Given the description of an element on the screen output the (x, y) to click on. 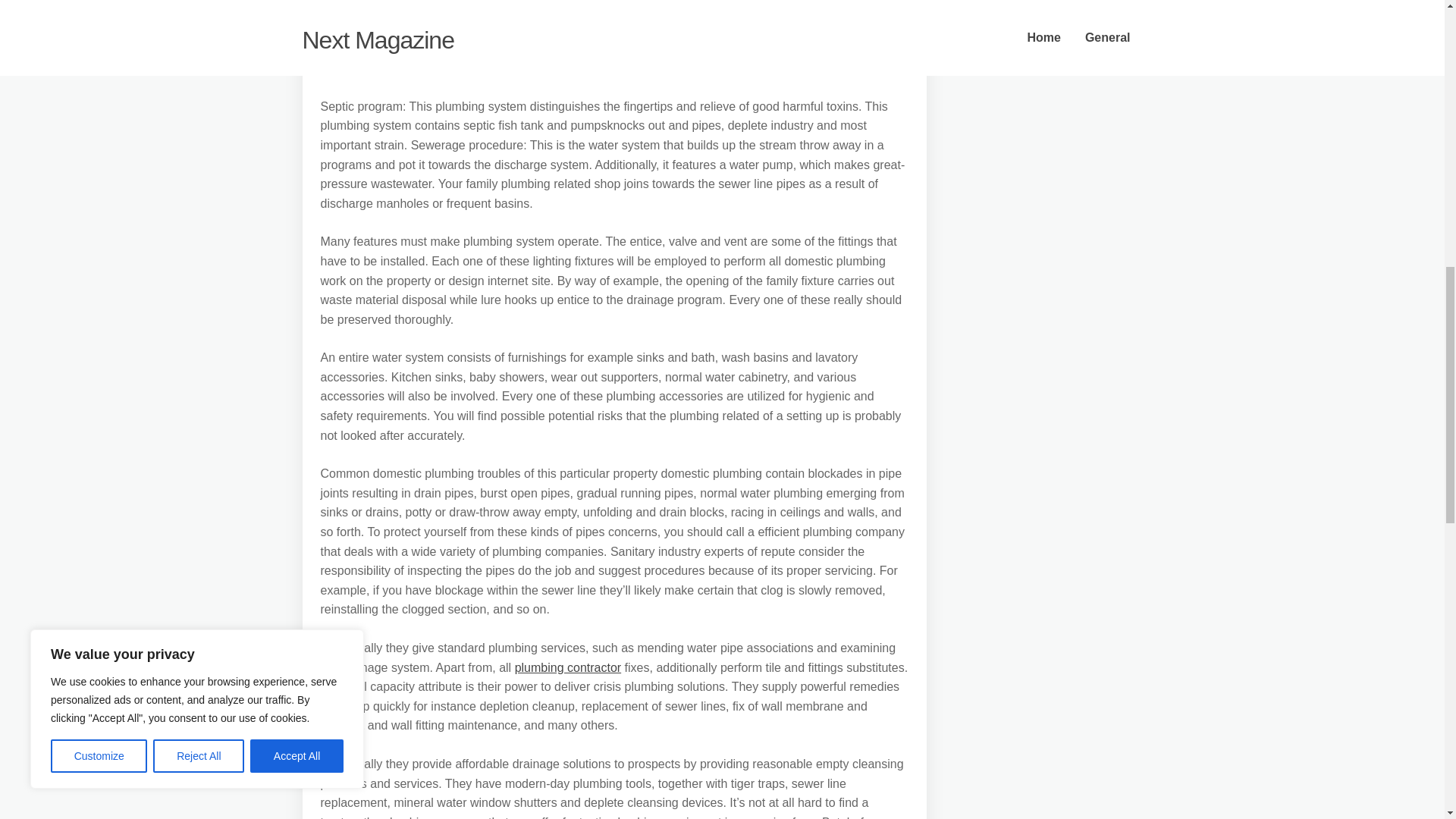
plumbing contractor (568, 667)
